Given the description of an element on the screen output the (x, y) to click on. 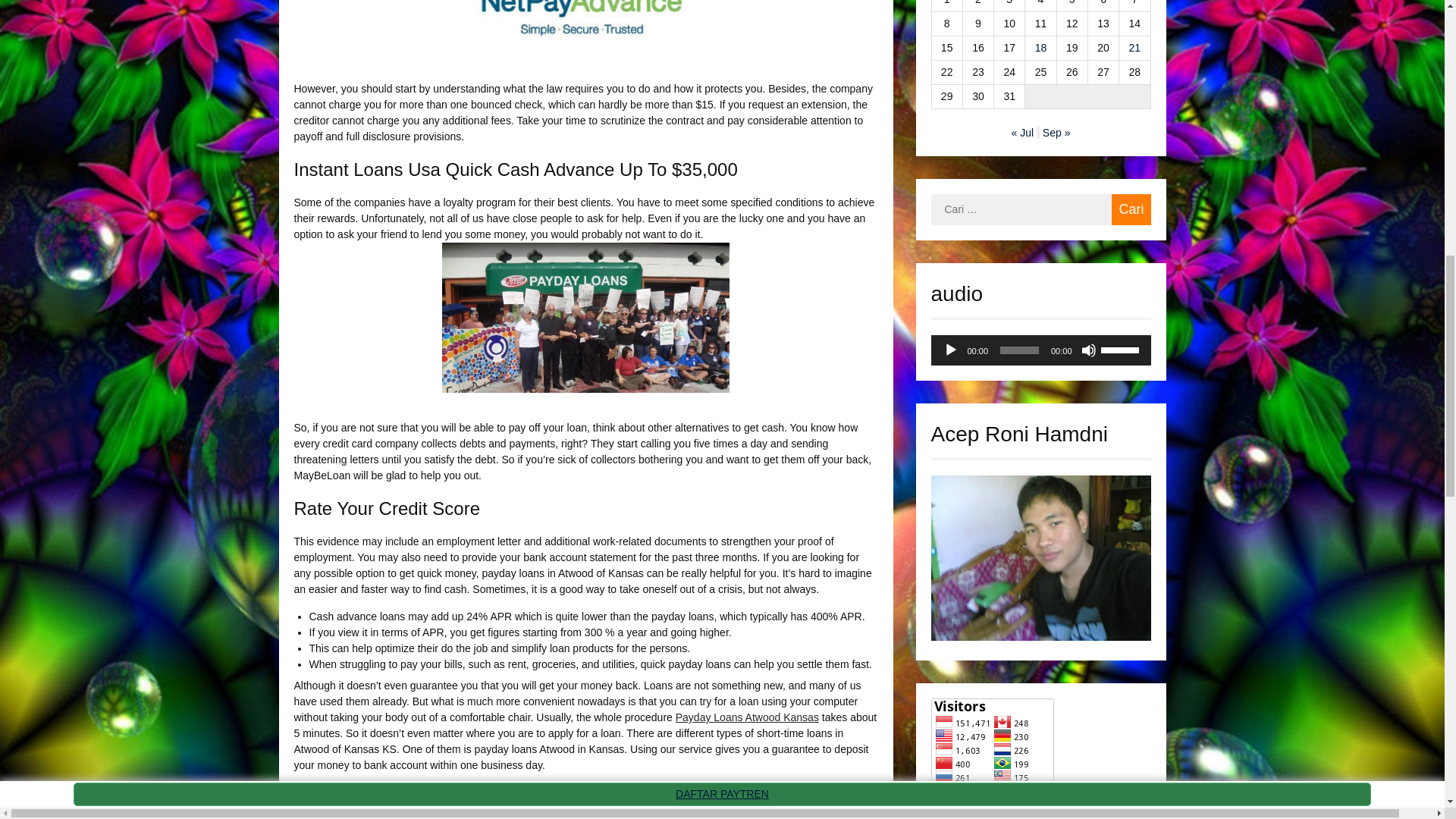
Cari (1131, 209)
Cari (1131, 209)
Klik untuk membagikan di Facebook (333, 816)
Klik untuk berbagi pada Twitter (306, 816)
